Given the description of an element on the screen output the (x, y) to click on. 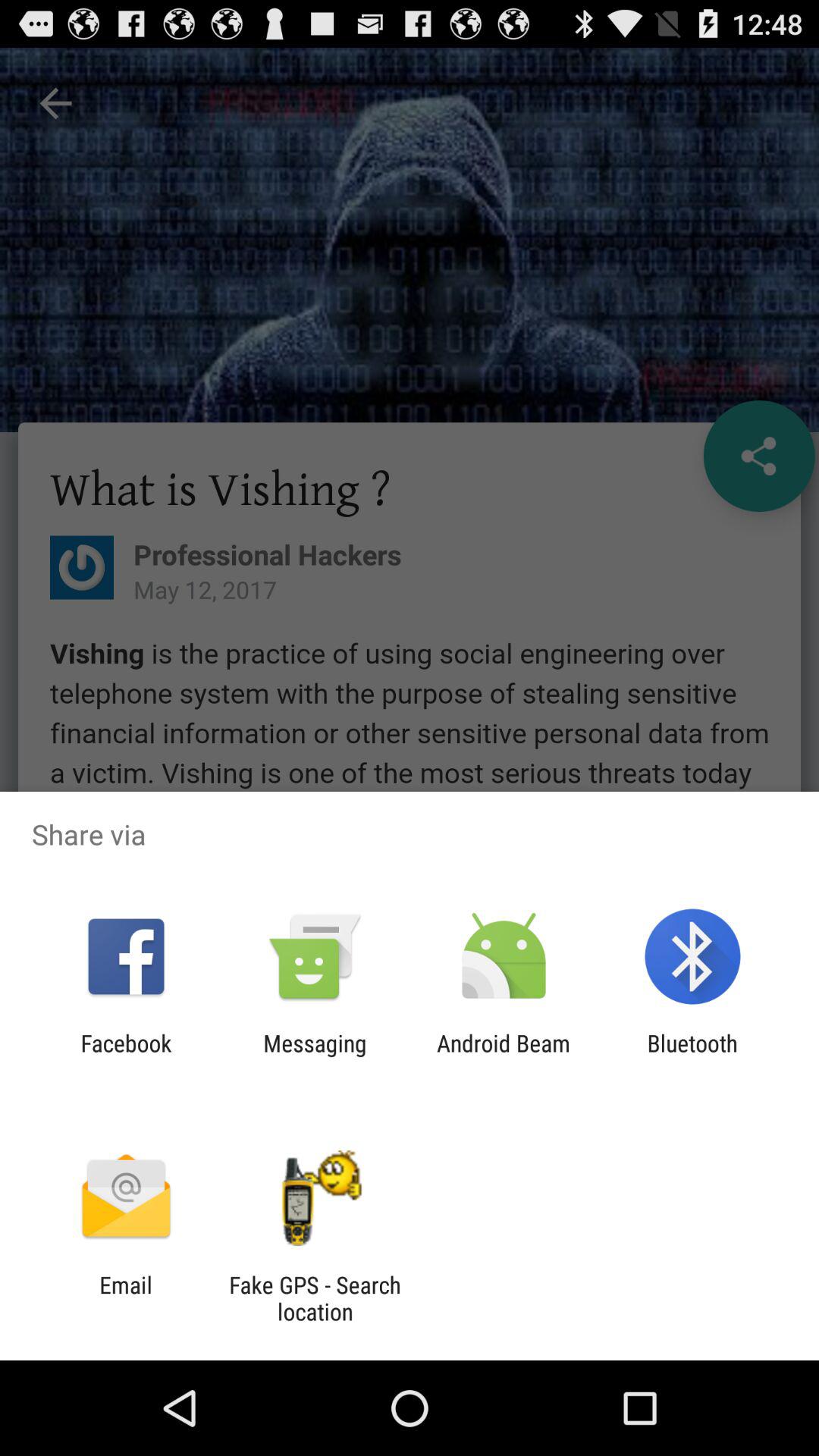
select item next to facebook item (314, 1056)
